Given the description of an element on the screen output the (x, y) to click on. 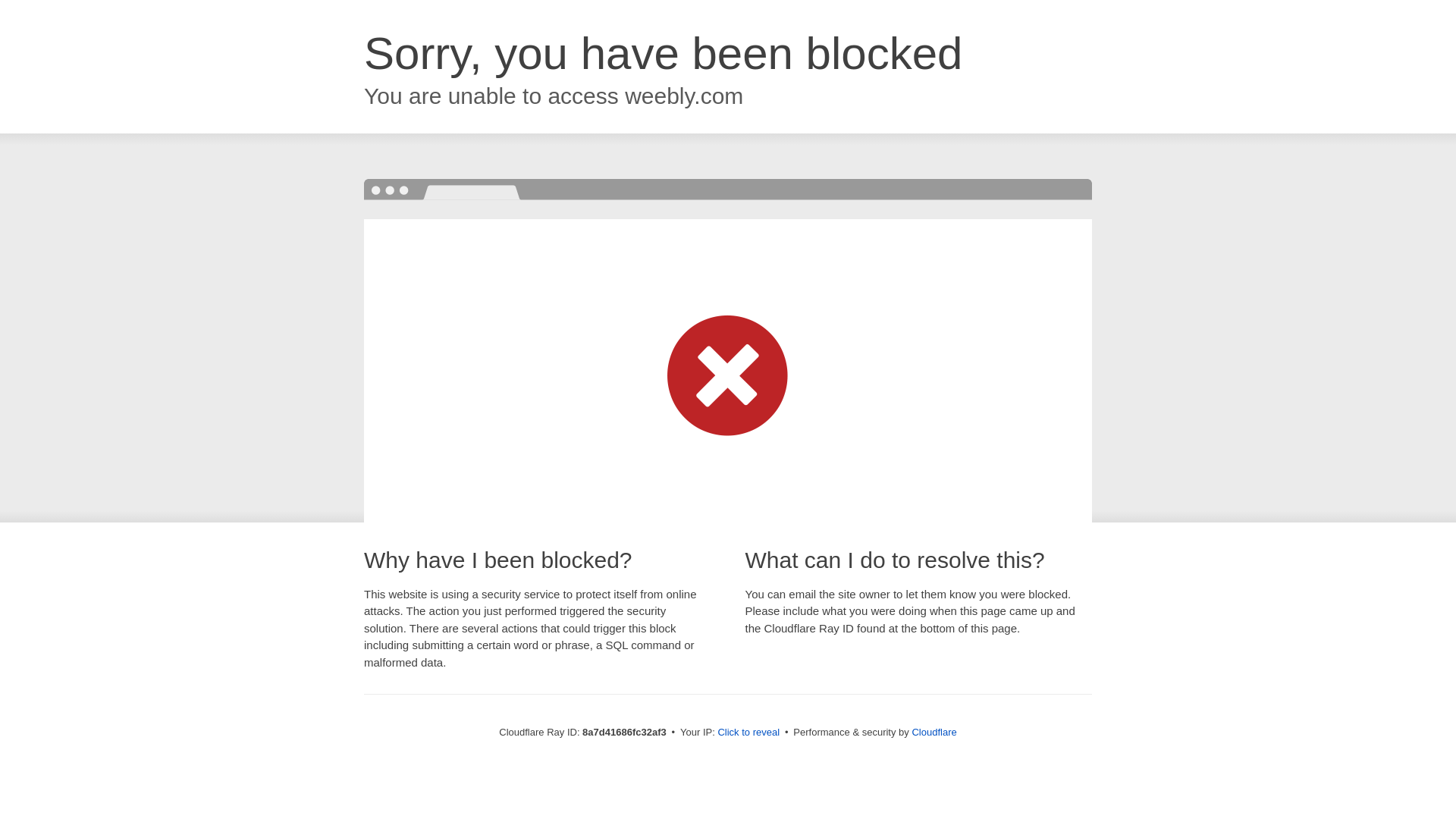
Click to reveal (747, 732)
Cloudflare (933, 731)
